Given the description of an element on the screen output the (x, y) to click on. 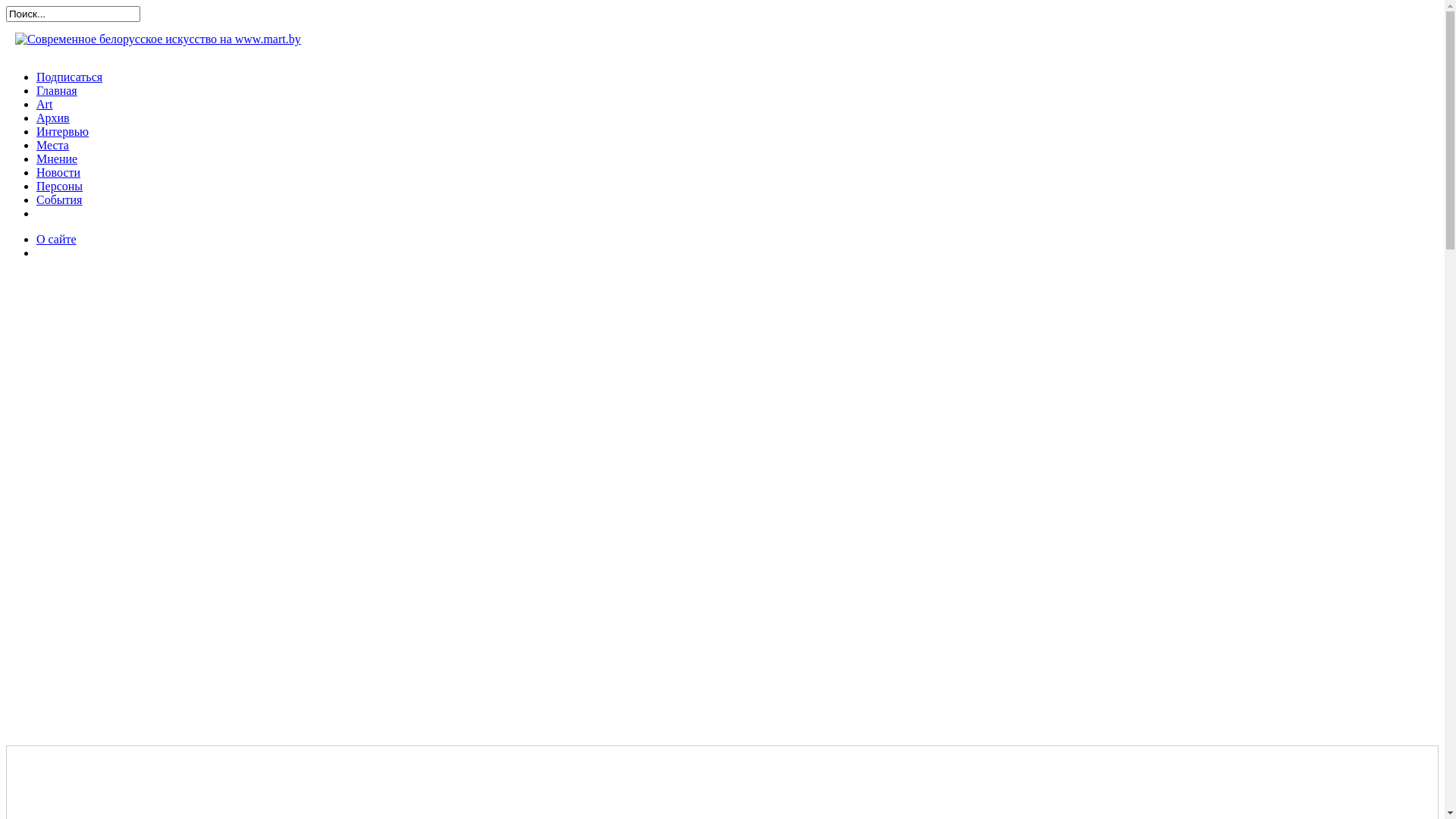
Advertisement Element type: hover (119, 499)
Art Element type: text (44, 103)
